Given the description of an element on the screen output the (x, y) to click on. 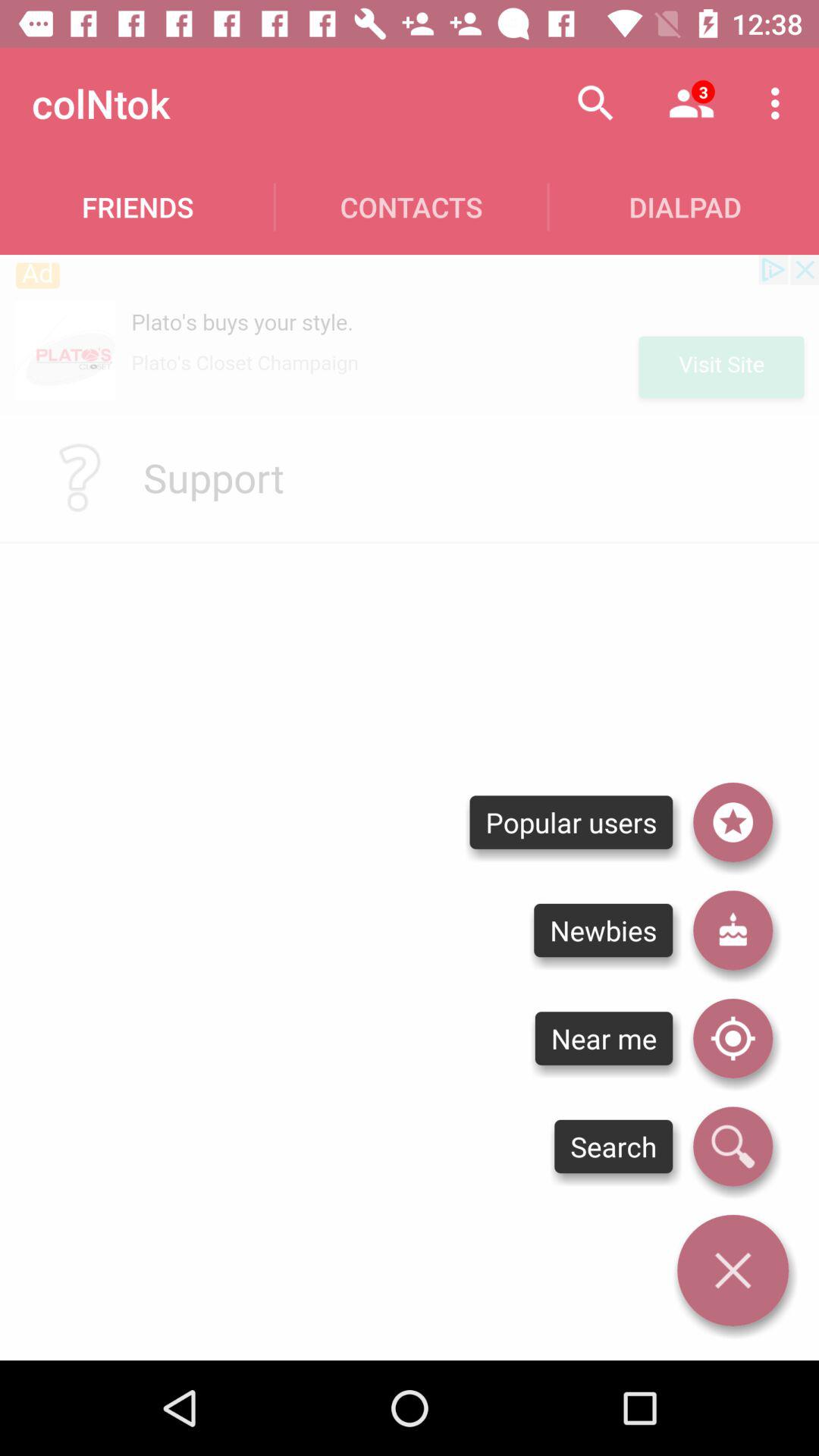
close the menu (733, 1270)
